Given the description of an element on the screen output the (x, y) to click on. 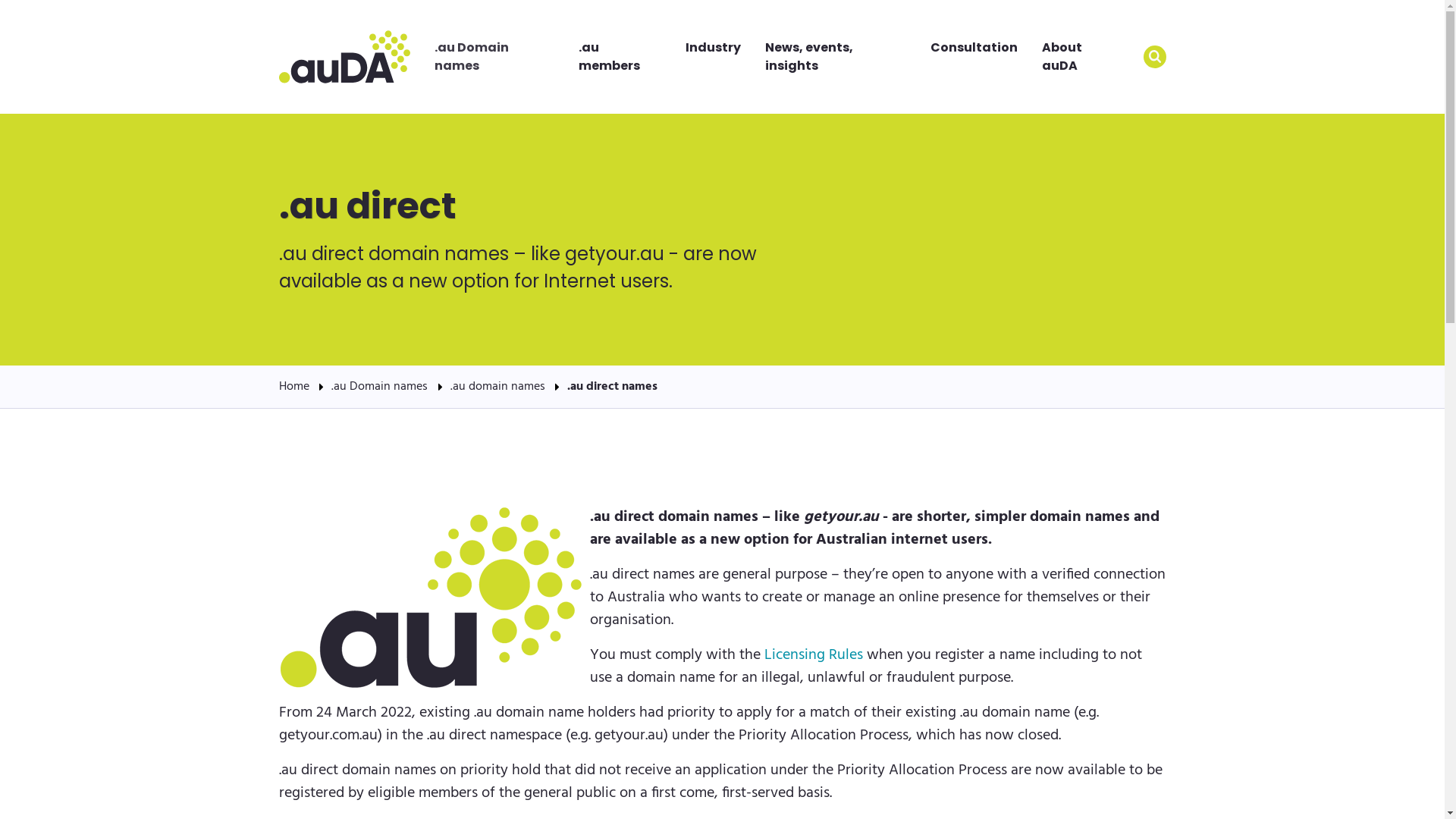
Apply Element type: text (1154, 56)
News, events, insights Element type: text (835, 56)
.au members Element type: text (619, 56)
Home Element type: hover (344, 57)
Consultation Element type: text (973, 47)
About auDA Element type: text (1079, 56)
Skip to main content Element type: text (0, 0)
Industry Element type: text (713, 47)
.au Domain names Element type: text (379, 386)
.au Domain names Element type: text (494, 56)
Licensing Rules Element type: text (813, 655)
Home Element type: text (294, 386)
.au domain names Element type: text (497, 386)
